Given the description of an element on the screen output the (x, y) to click on. 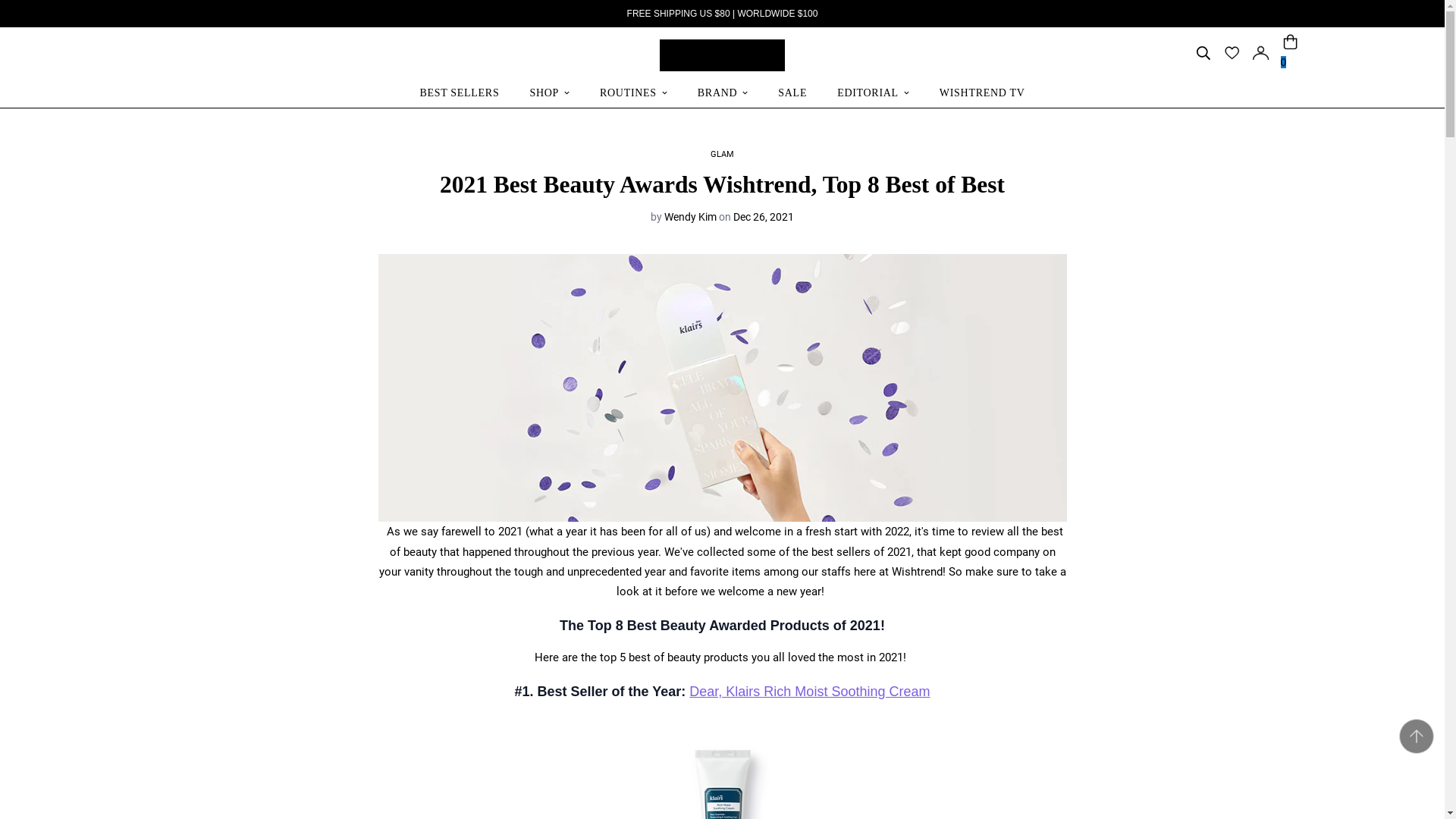
ROUTINES (632, 92)
SHOP (549, 92)
BEST SELLERS (721, 92)
